Given the description of an element on the screen output the (x, y) to click on. 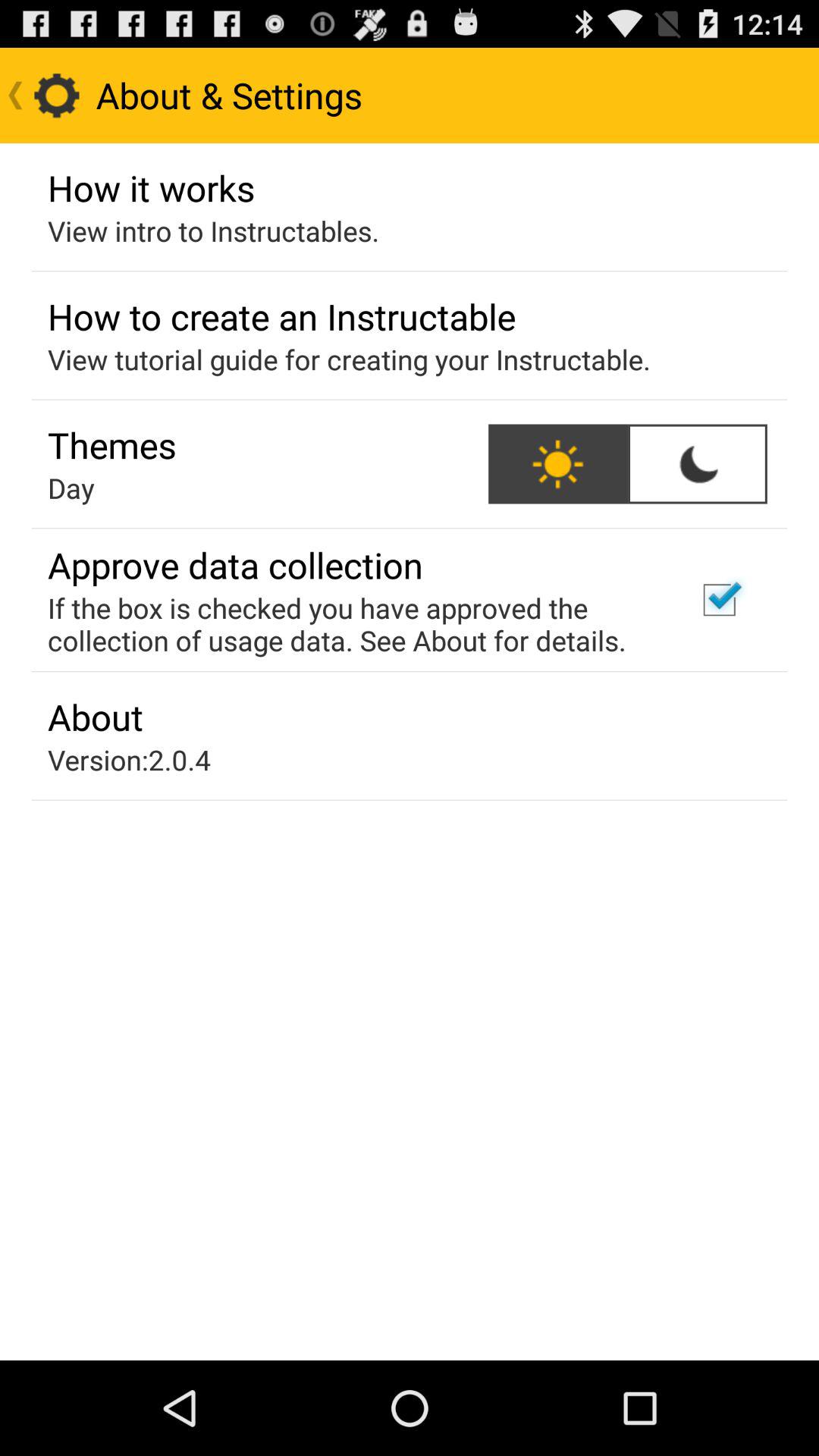
select the themes (111, 444)
